Given the description of an element on the screen output the (x, y) to click on. 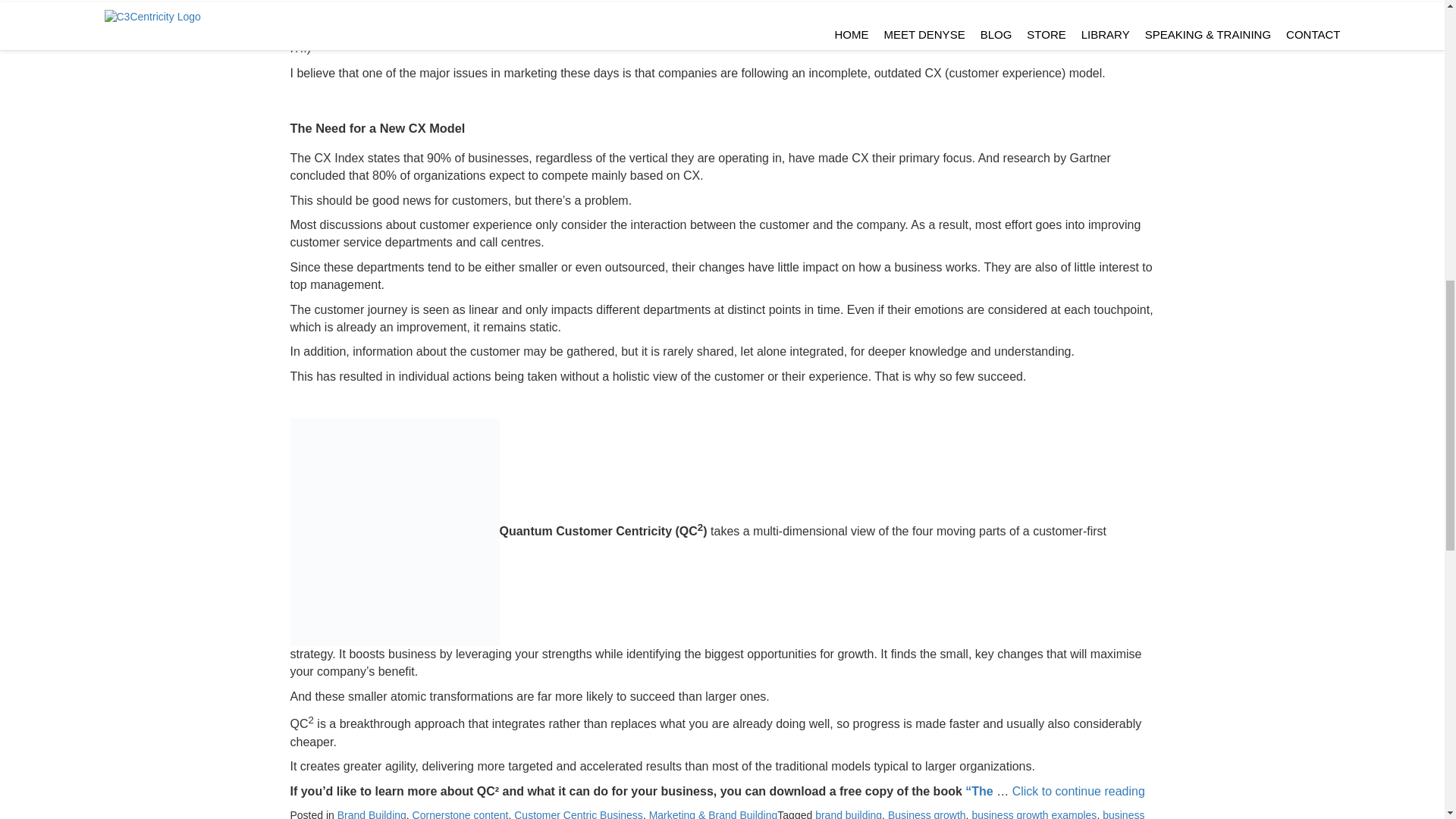
Cornerstone content (460, 814)
Click to continue reading (1077, 790)
brand building (848, 814)
business growth examples (1033, 814)
Customer Centric Business (578, 814)
Business growth (927, 814)
business growth plan (716, 814)
Brand Building (371, 814)
